Given the description of an element on the screen output the (x, y) to click on. 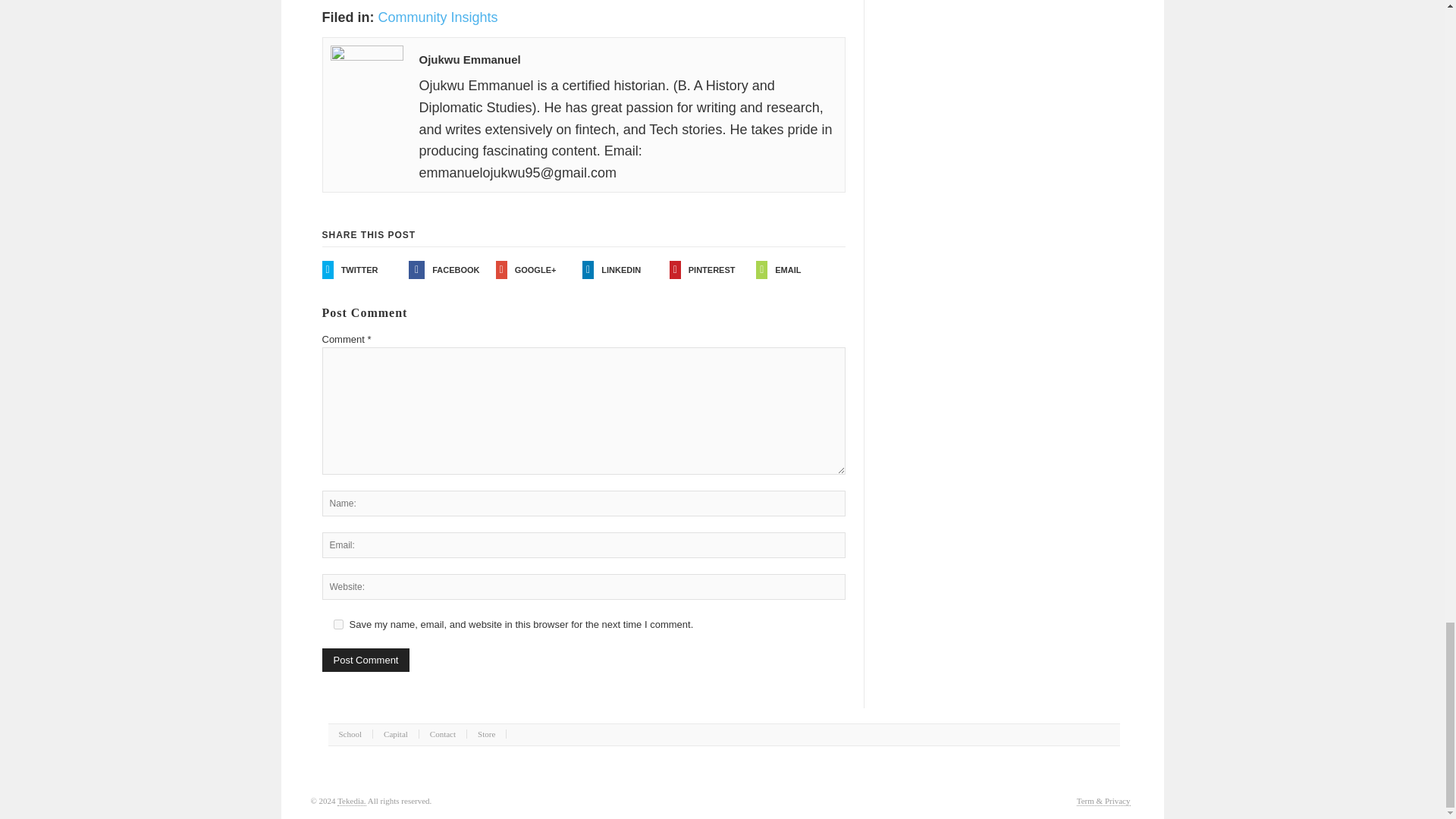
Post Comment (365, 659)
yes (338, 624)
